Given the description of an element on the screen output the (x, y) to click on. 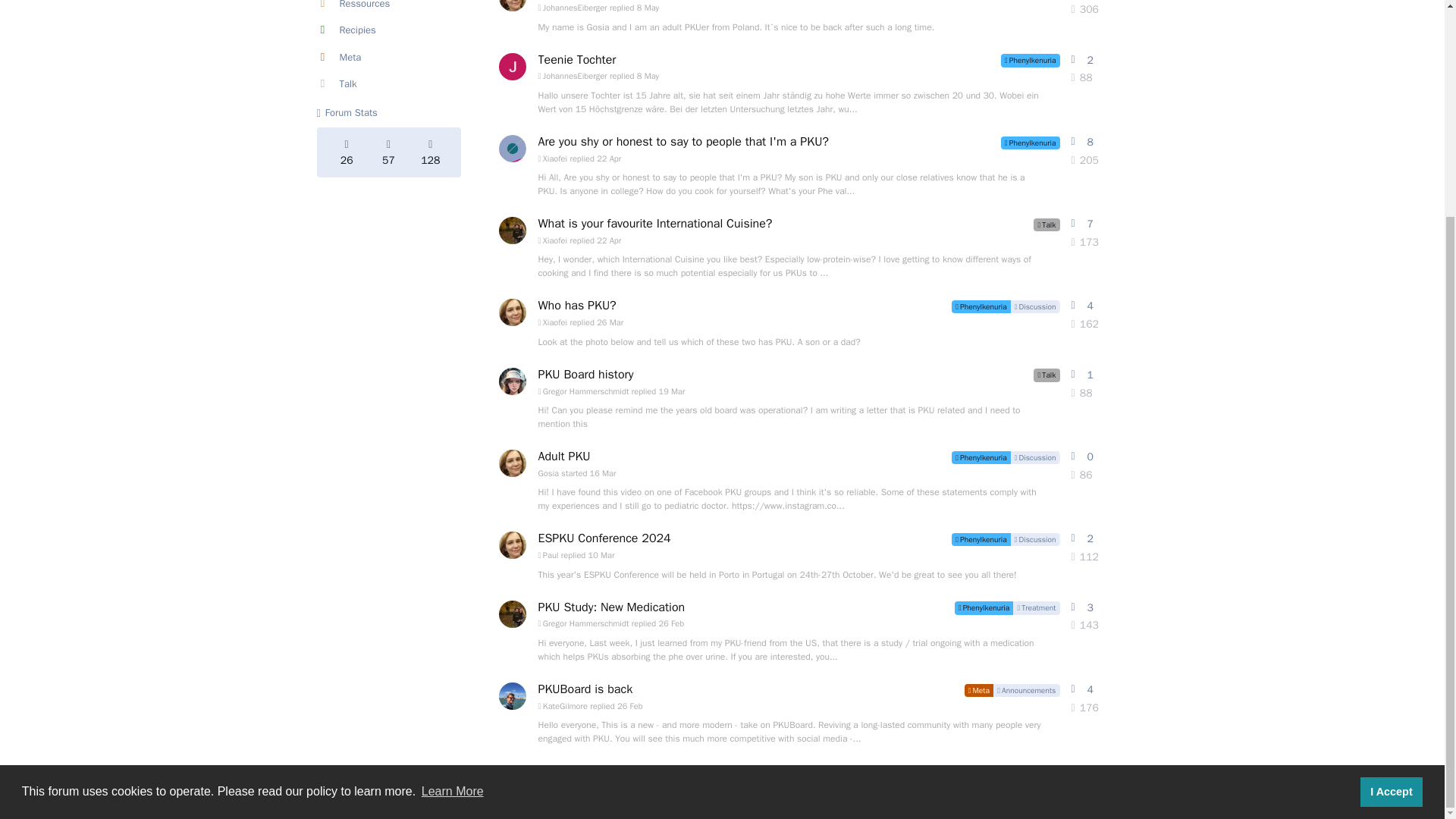
Talk (389, 83)
Wednesday, May 8, 2024 2:13 AM (648, 75)
Ressources (389, 8)
Monday, April 22, 2024 11:36 AM (608, 240)
Tuesday, March 26, 2024 4:05 PM (609, 321)
Recipies (389, 30)
Monday, April 22, 2024 11:47 AM (608, 158)
Meta (389, 57)
I Accept (1390, 506)
Wednesday, May 8, 2024 2:29 AM (648, 7)
Tuesday, March 19, 2024 3:23 AM (672, 390)
Learn More (452, 506)
